Given the description of an element on the screen output the (x, y) to click on. 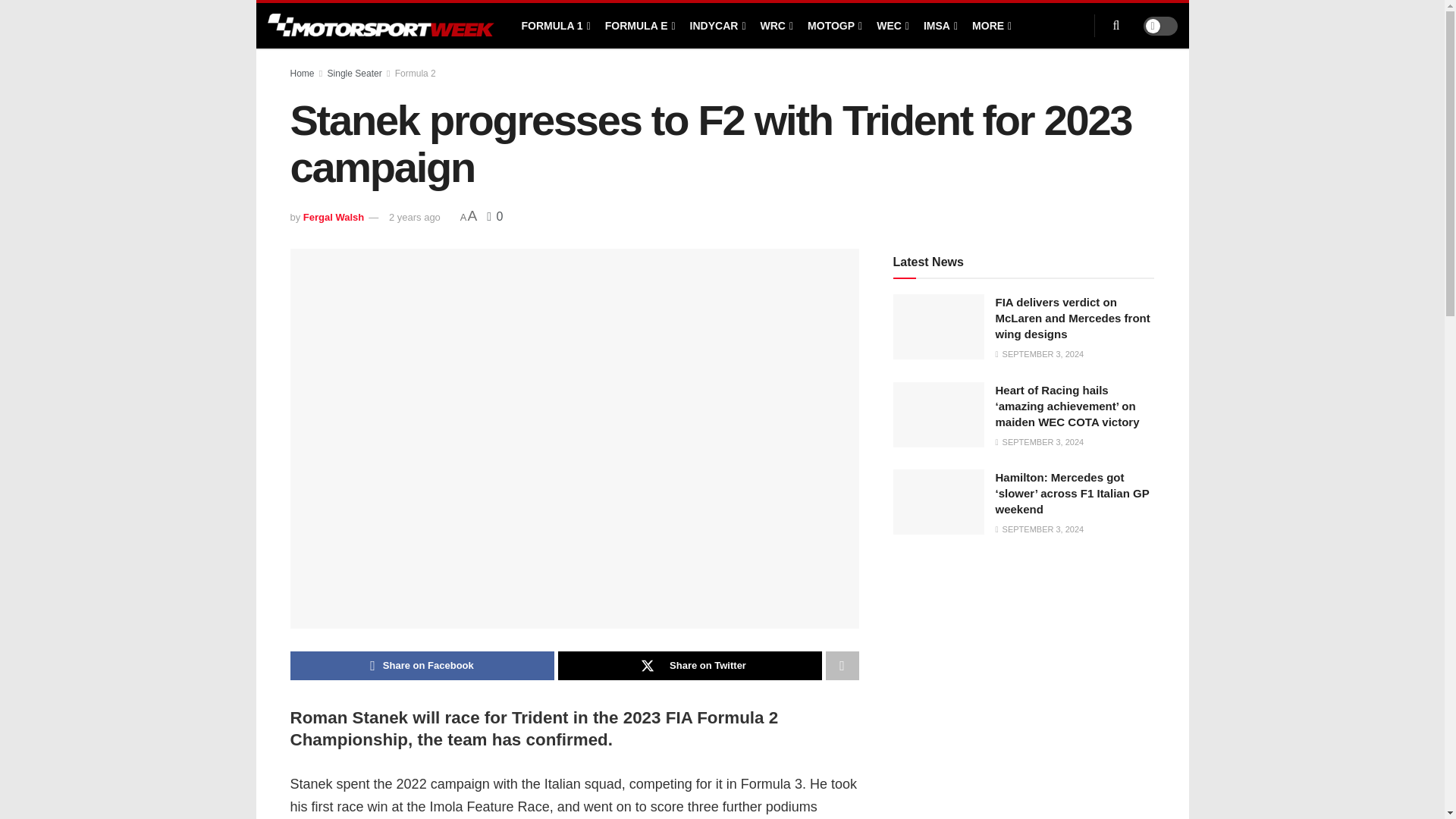
INDYCAR (717, 25)
WEC (891, 25)
WRC (776, 25)
IMSA (939, 25)
MOTOGP (834, 25)
MORE (990, 25)
FORMULA E (638, 25)
FORMULA 1 (554, 25)
